Given the description of an element on the screen output the (x, y) to click on. 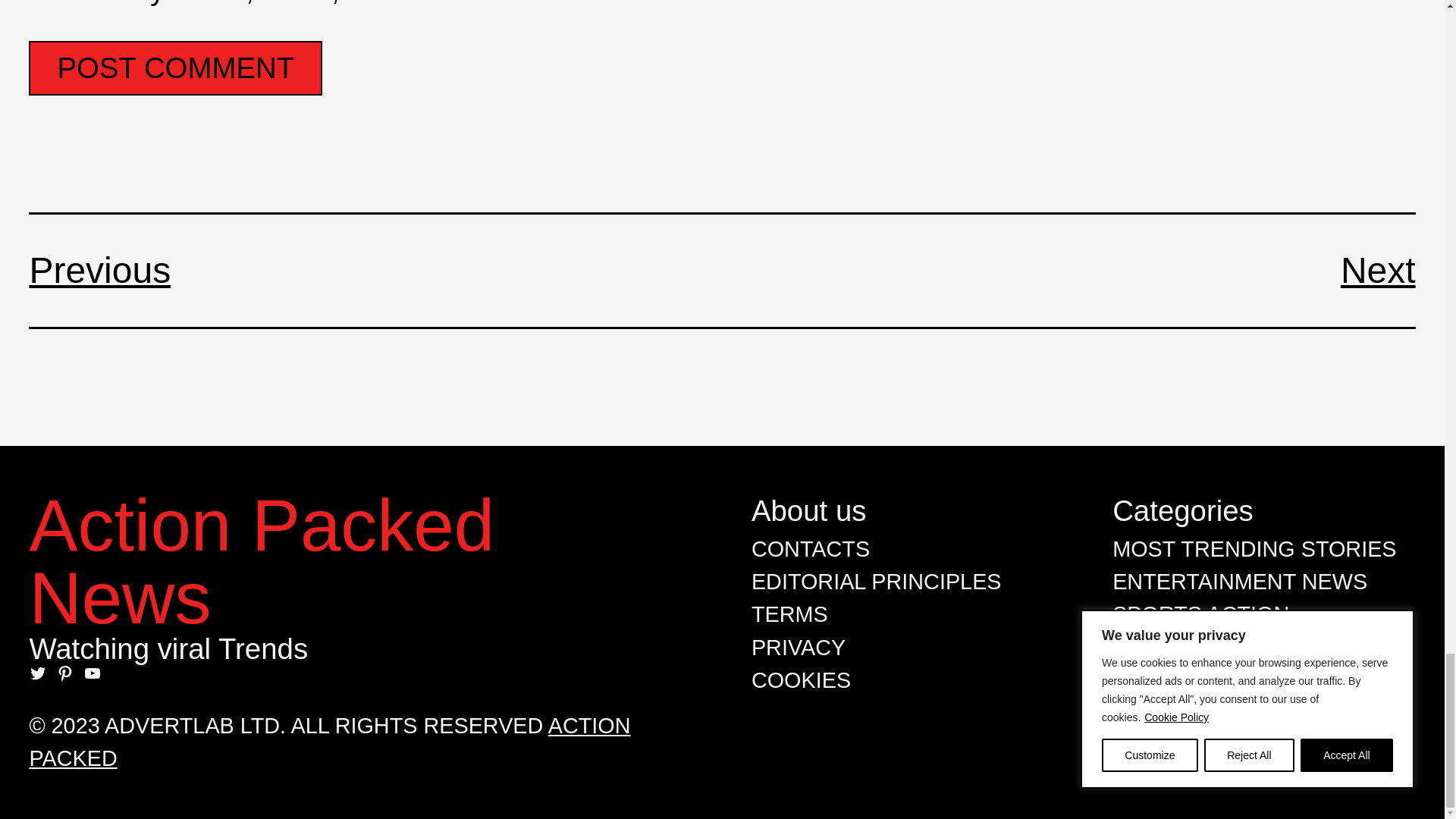
Post Comment (175, 67)
yes (37, 4)
Post Comment (175, 67)
